Given the description of an element on the screen output the (x, y) to click on. 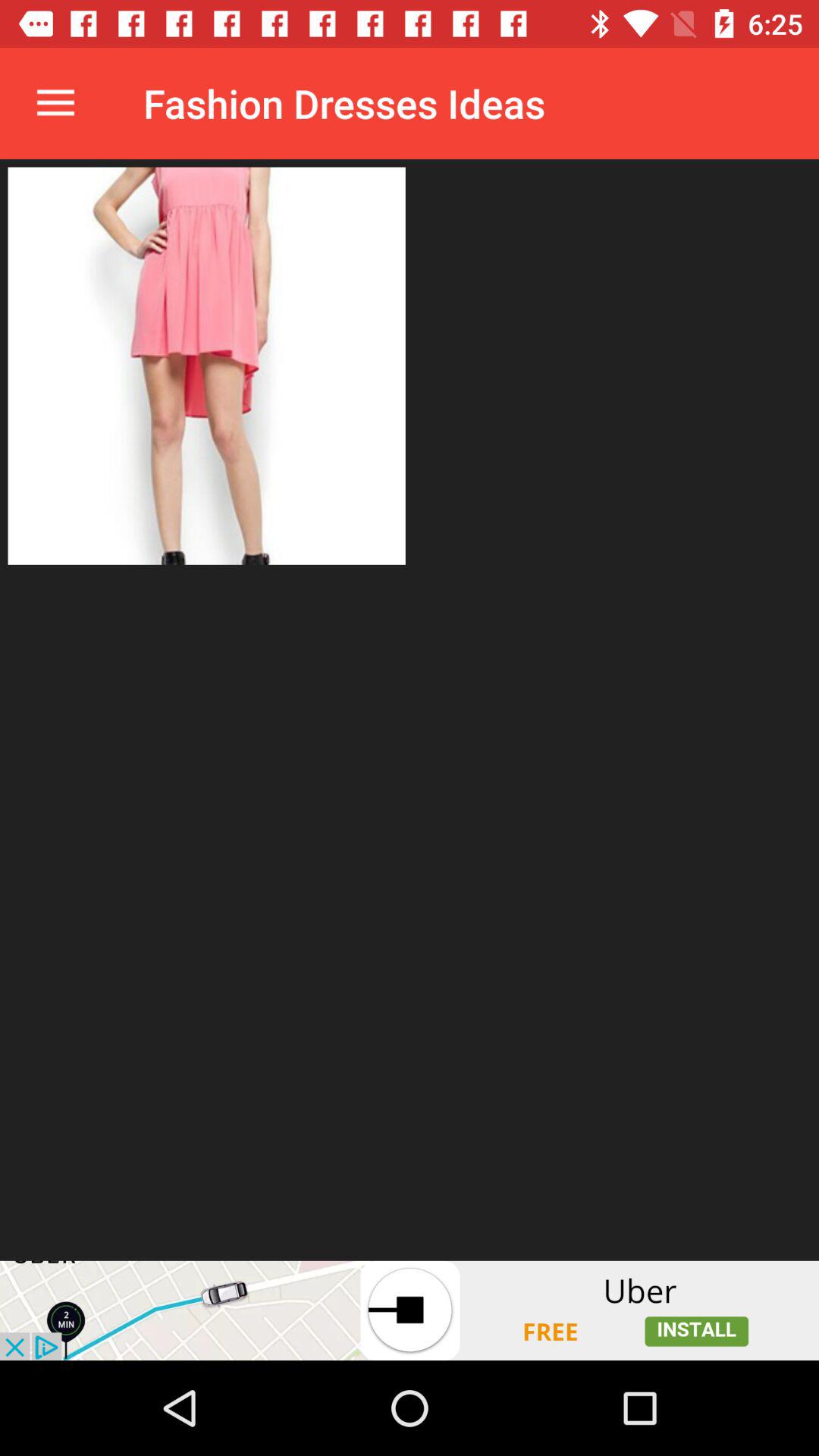
this is an advertisement (409, 1310)
